Given the description of an element on the screen output the (x, y) to click on. 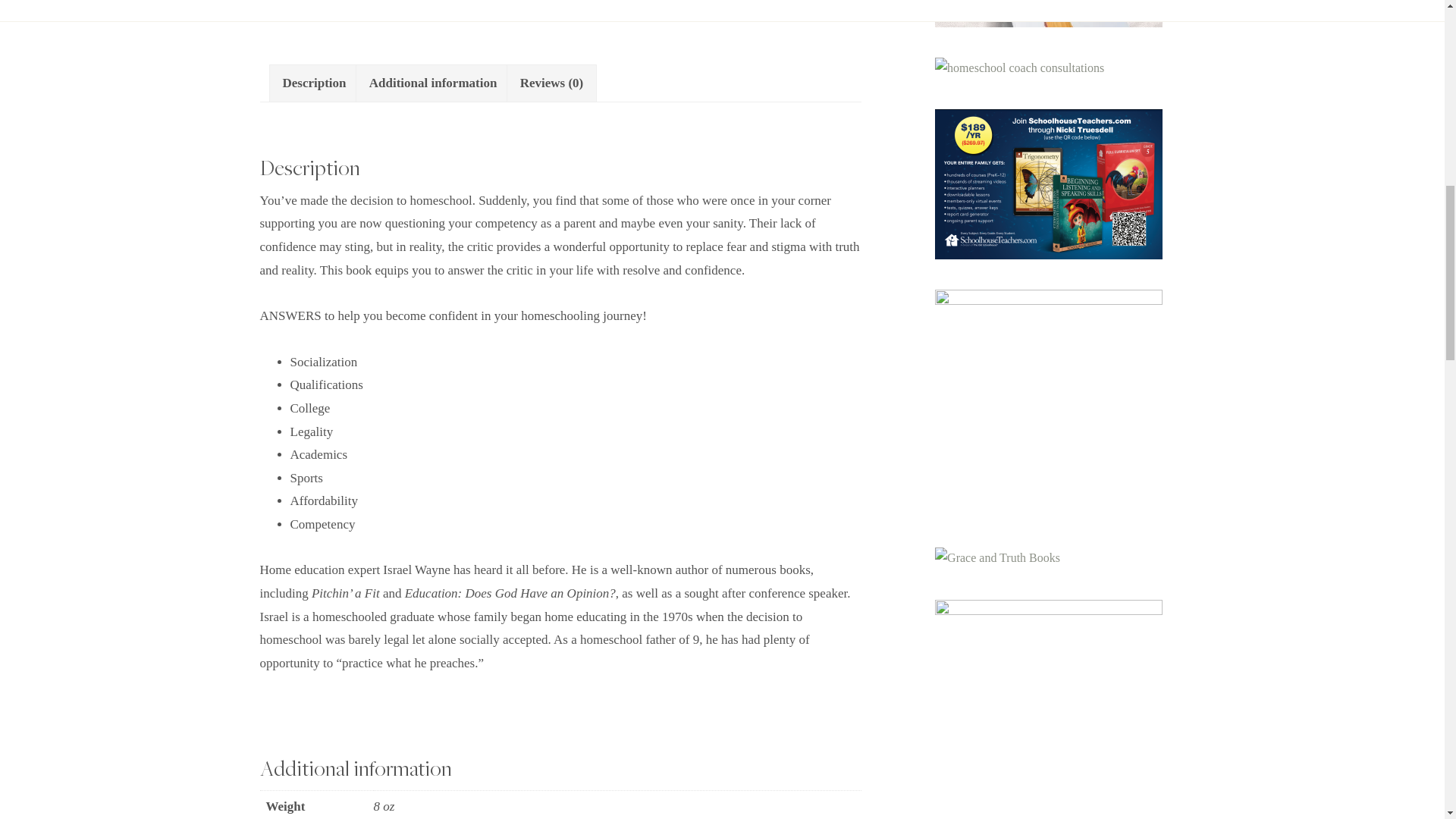
Additional information (433, 83)
Description (314, 83)
